Given the description of an element on the screen output the (x, y) to click on. 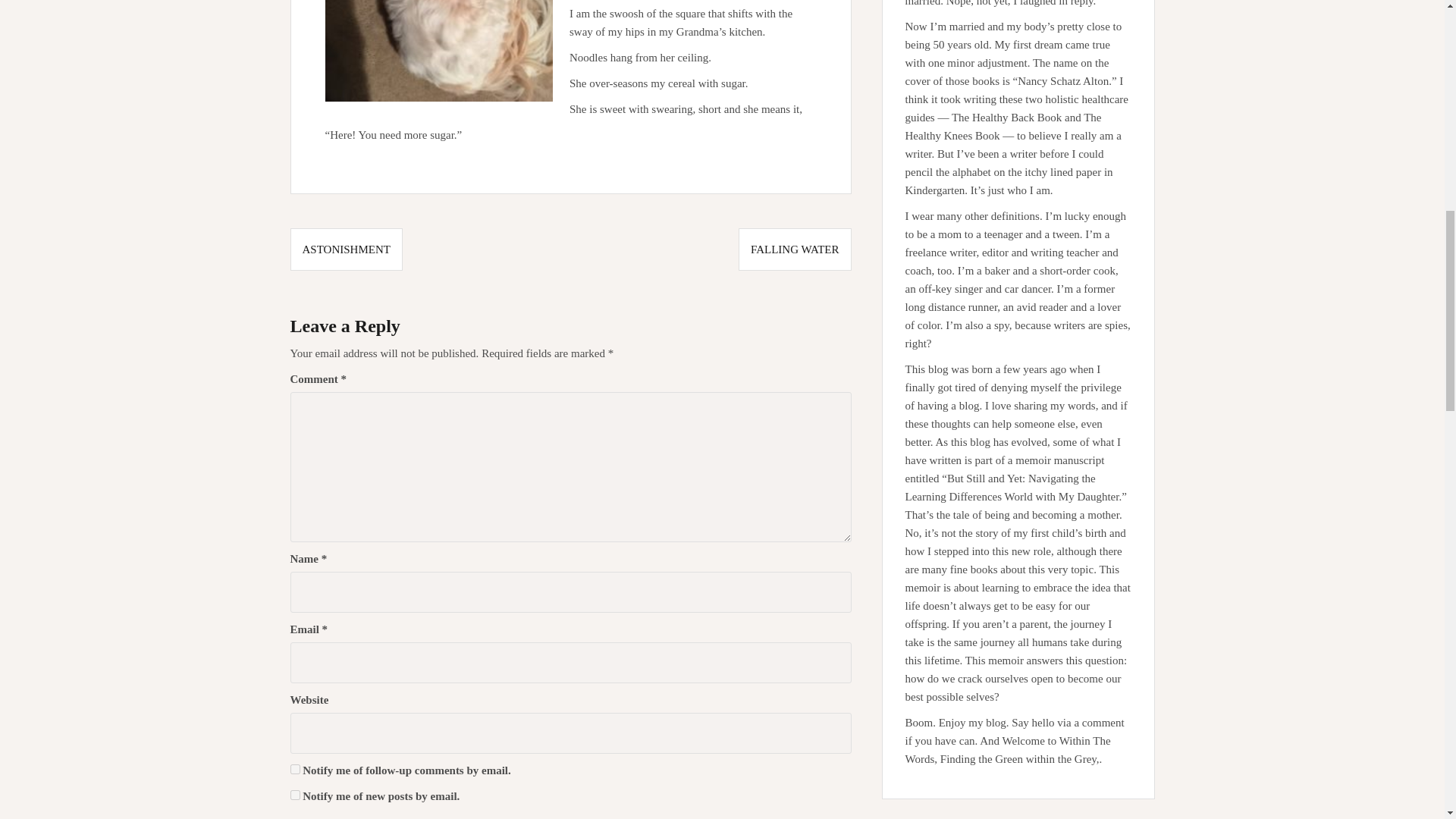
subscribe (294, 768)
subscribe (294, 795)
ASTONISHMENT (345, 249)
FALLING WATER (795, 249)
